Given the description of an element on the screen output the (x, y) to click on. 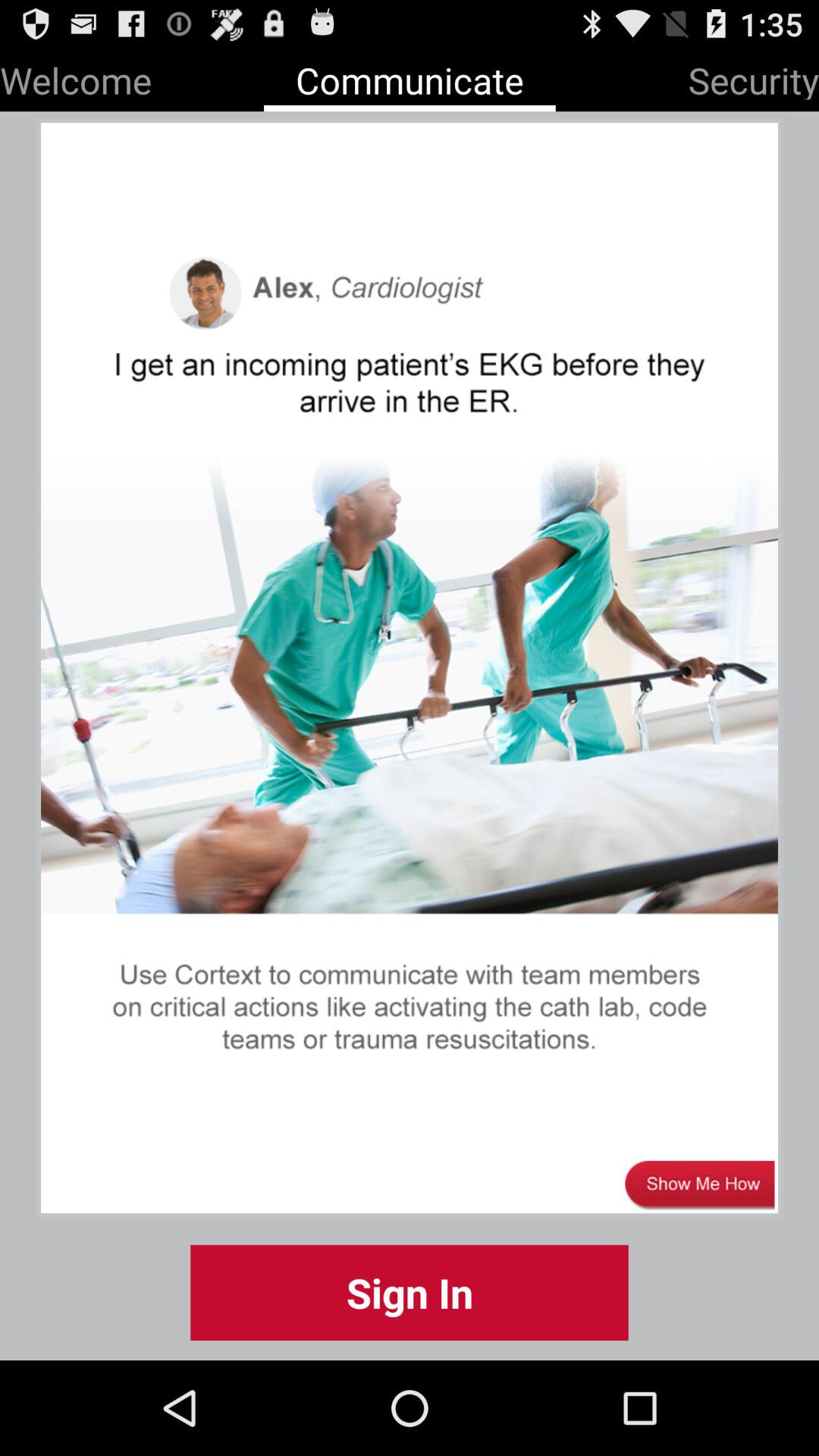
click the security icon (753, 77)
